Given the description of an element on the screen output the (x, y) to click on. 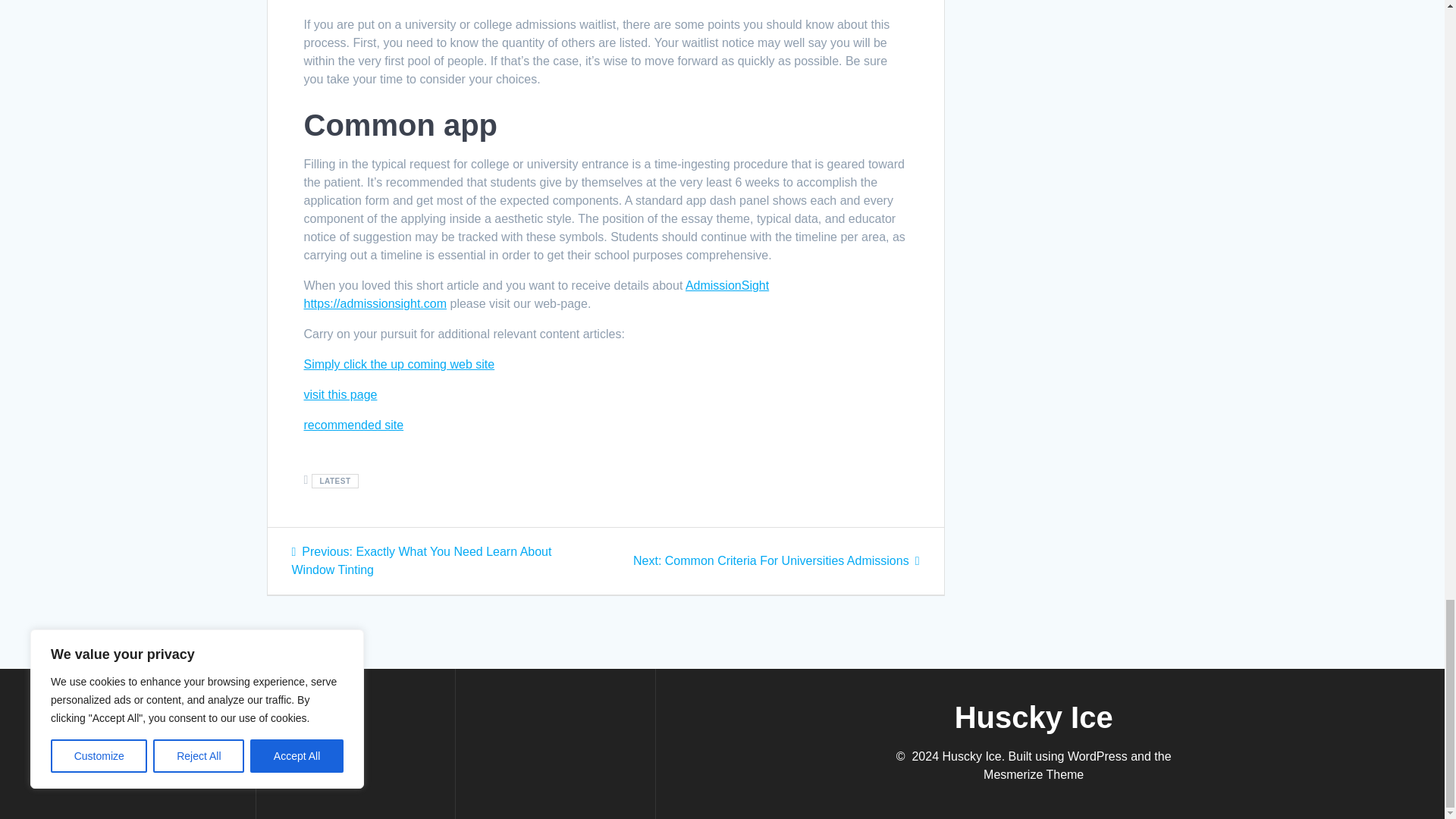
recommended site (776, 560)
visit this page (352, 424)
Simply click the up coming web site (339, 394)
LATEST (398, 364)
